Given the description of an element on the screen output the (x, y) to click on. 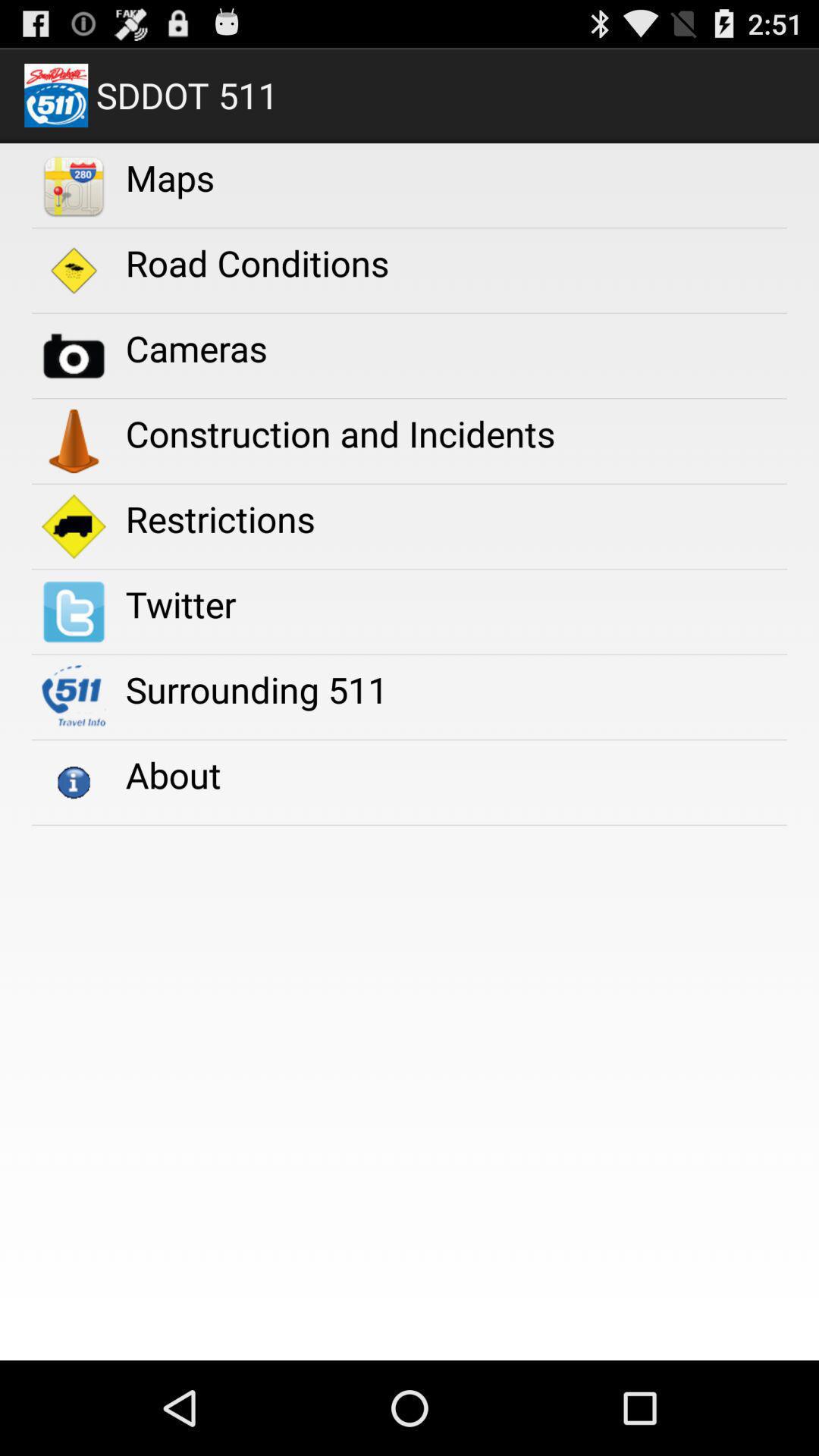
turn off about (173, 774)
